Given the description of an element on the screen output the (x, y) to click on. 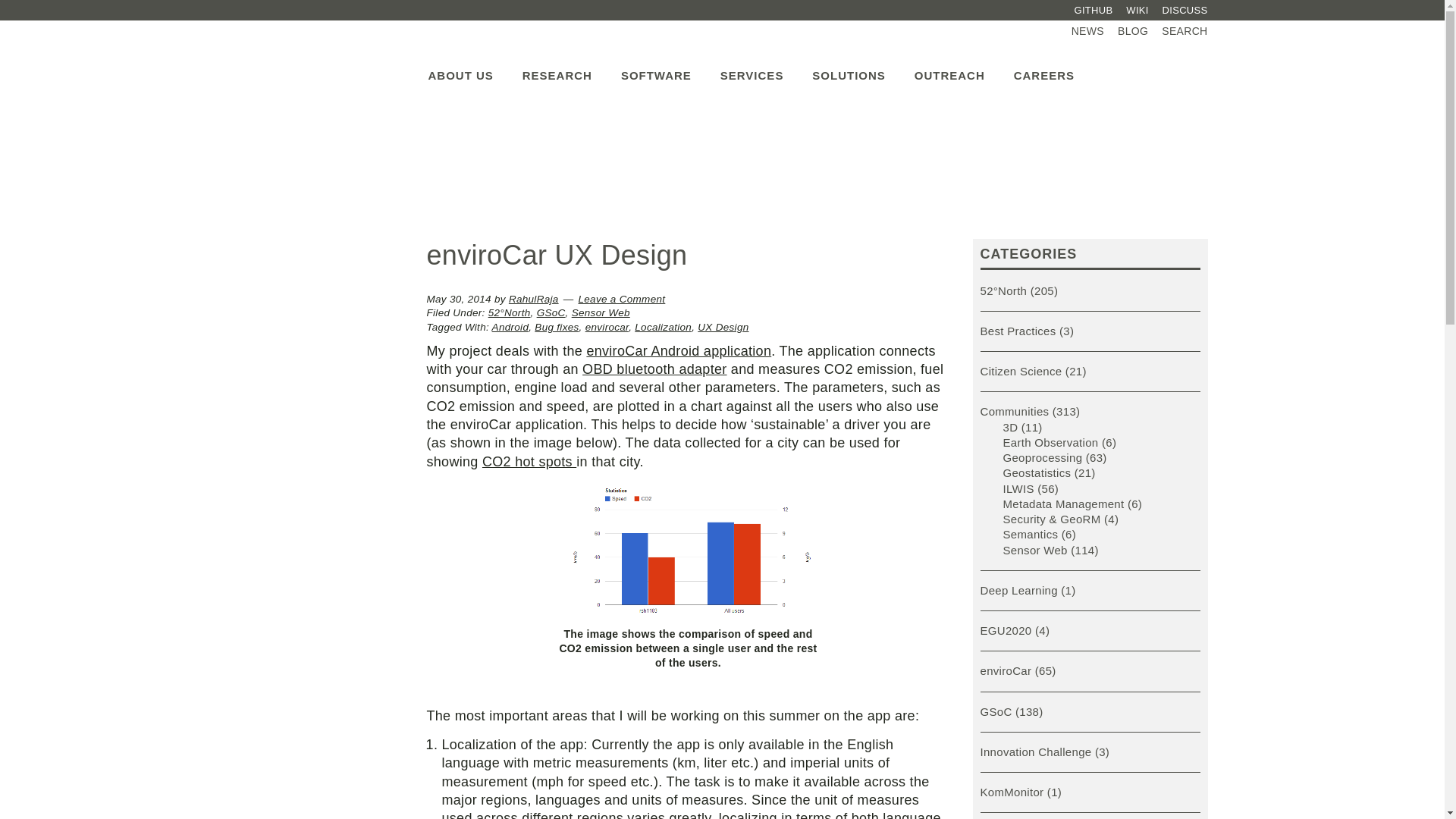
SOLUTIONS (848, 66)
BLOG (1132, 30)
envirocar (606, 326)
GITHUB (1093, 10)
ABOUT US (460, 66)
Localization (662, 326)
RESEARCH (557, 66)
SOFTWARE (656, 66)
enviroCar Android application (678, 350)
CAREERS (1043, 66)
DISCUSS (1182, 10)
WIKI (1137, 10)
OUTREACH (949, 66)
Sensor Web (601, 312)
NEWS (1087, 30)
